Given the description of an element on the screen output the (x, y) to click on. 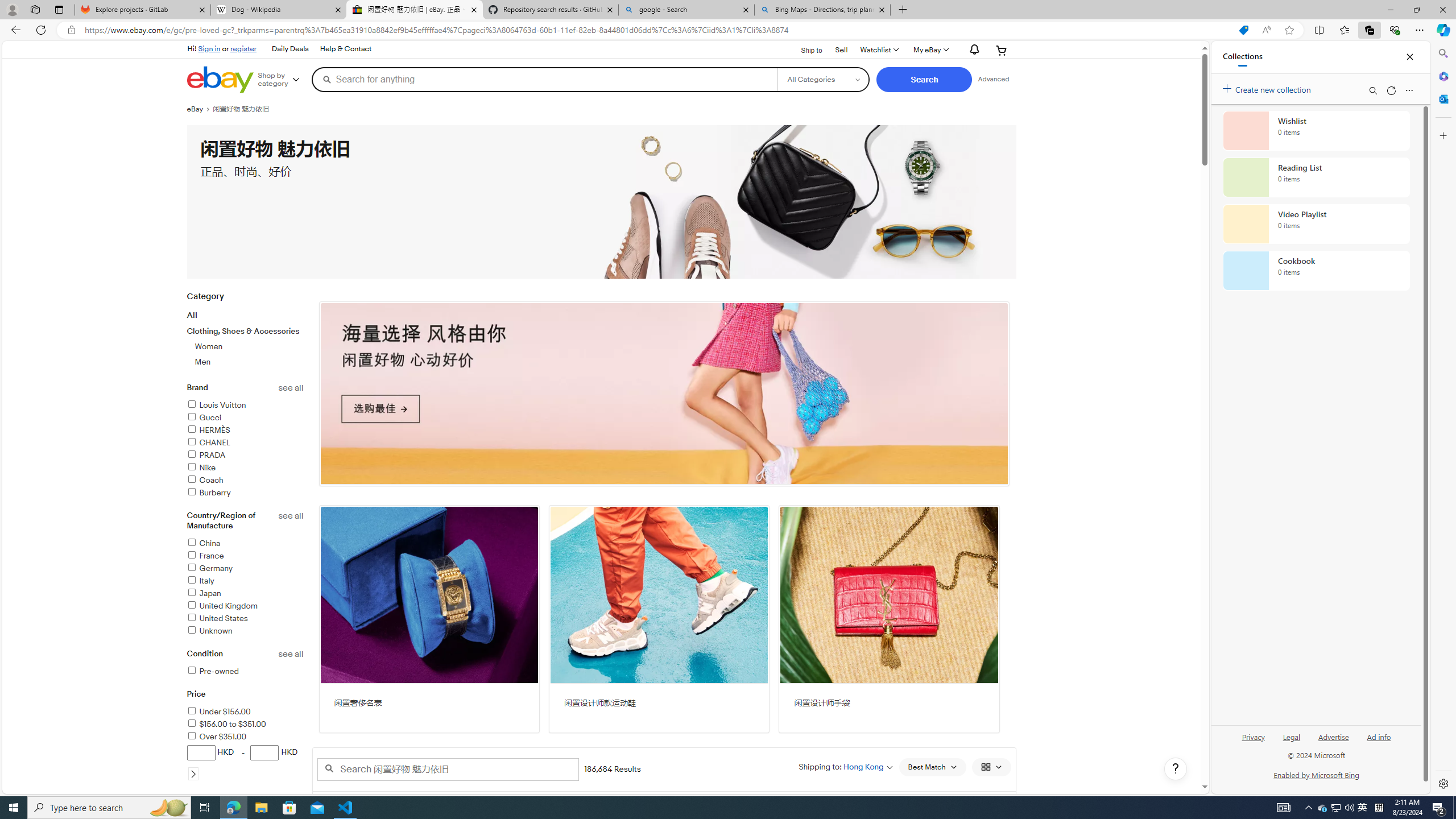
France (205, 556)
Italy (200, 580)
Coach (205, 479)
Maximum Value (264, 752)
Submit price range (192, 773)
Gucci (245, 417)
See all brand refinements (291, 387)
Over $351.00 (216, 737)
Unknown (209, 630)
Unknown (245, 631)
